Given the description of an element on the screen output the (x, y) to click on. 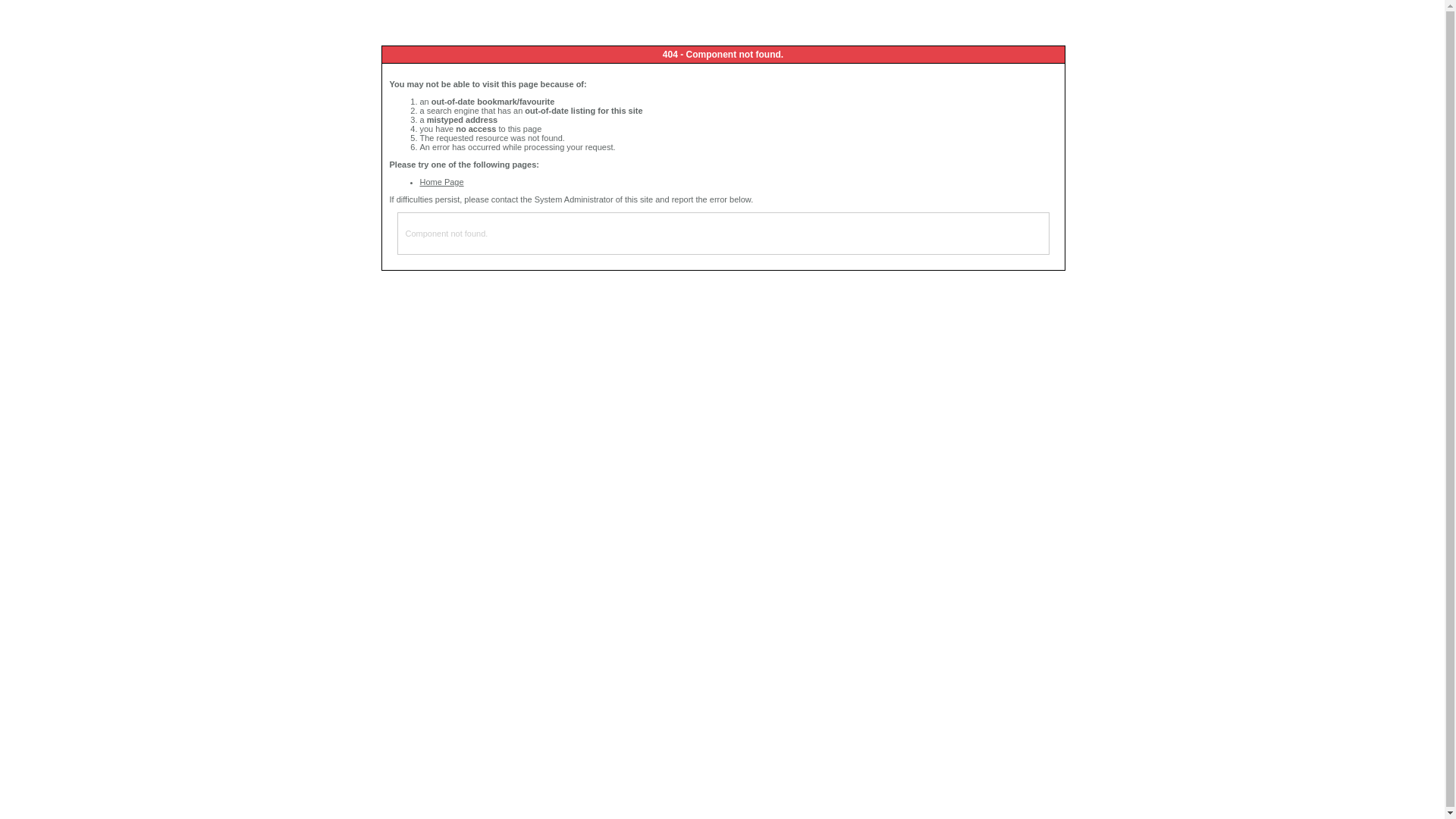
Home Page Element type: text (442, 181)
